Given the description of an element on the screen output the (x, y) to click on. 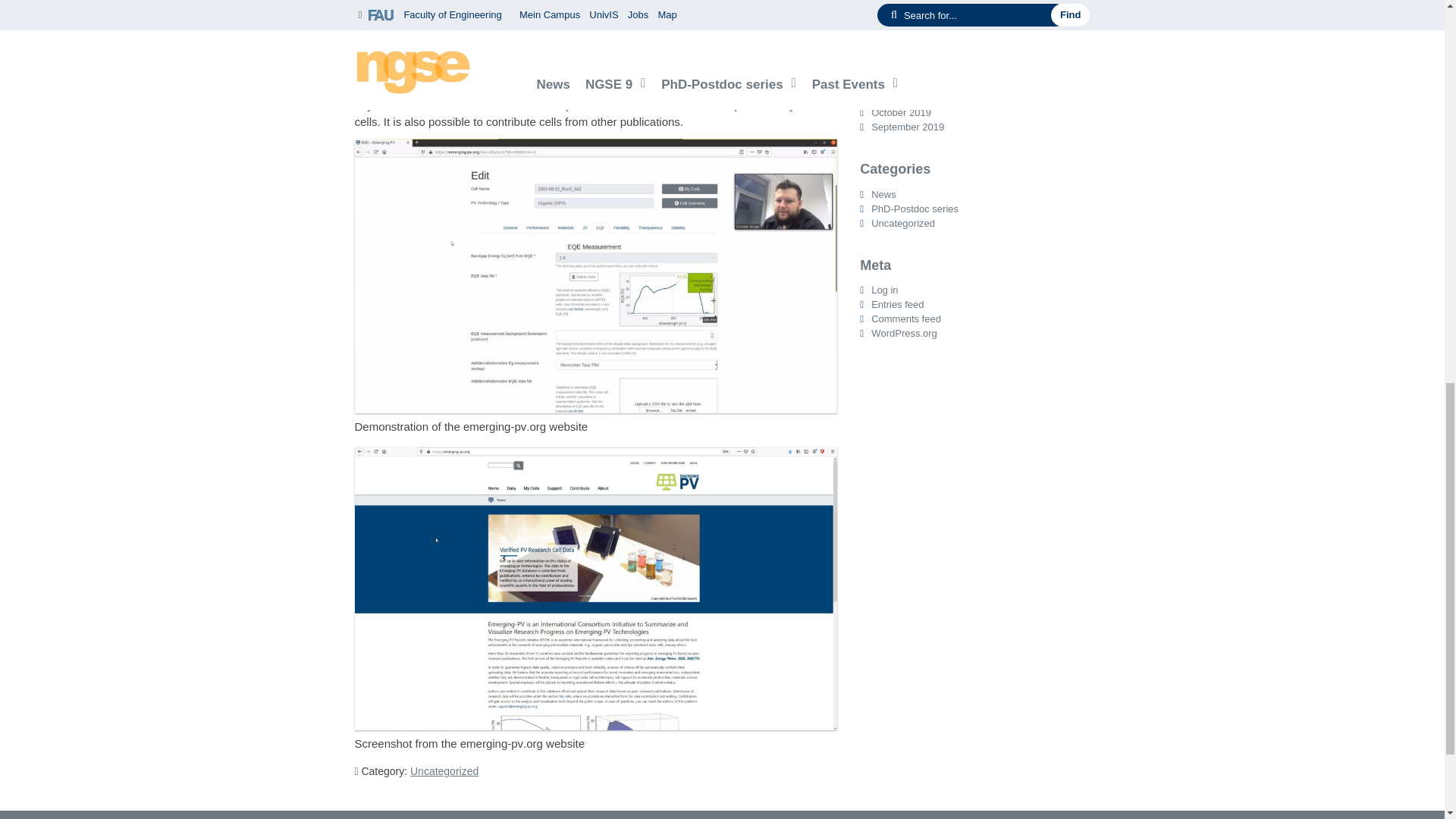
emerging-pv.org (706, 38)
Uncategorized (444, 770)
